Given the description of an element on the screen output the (x, y) to click on. 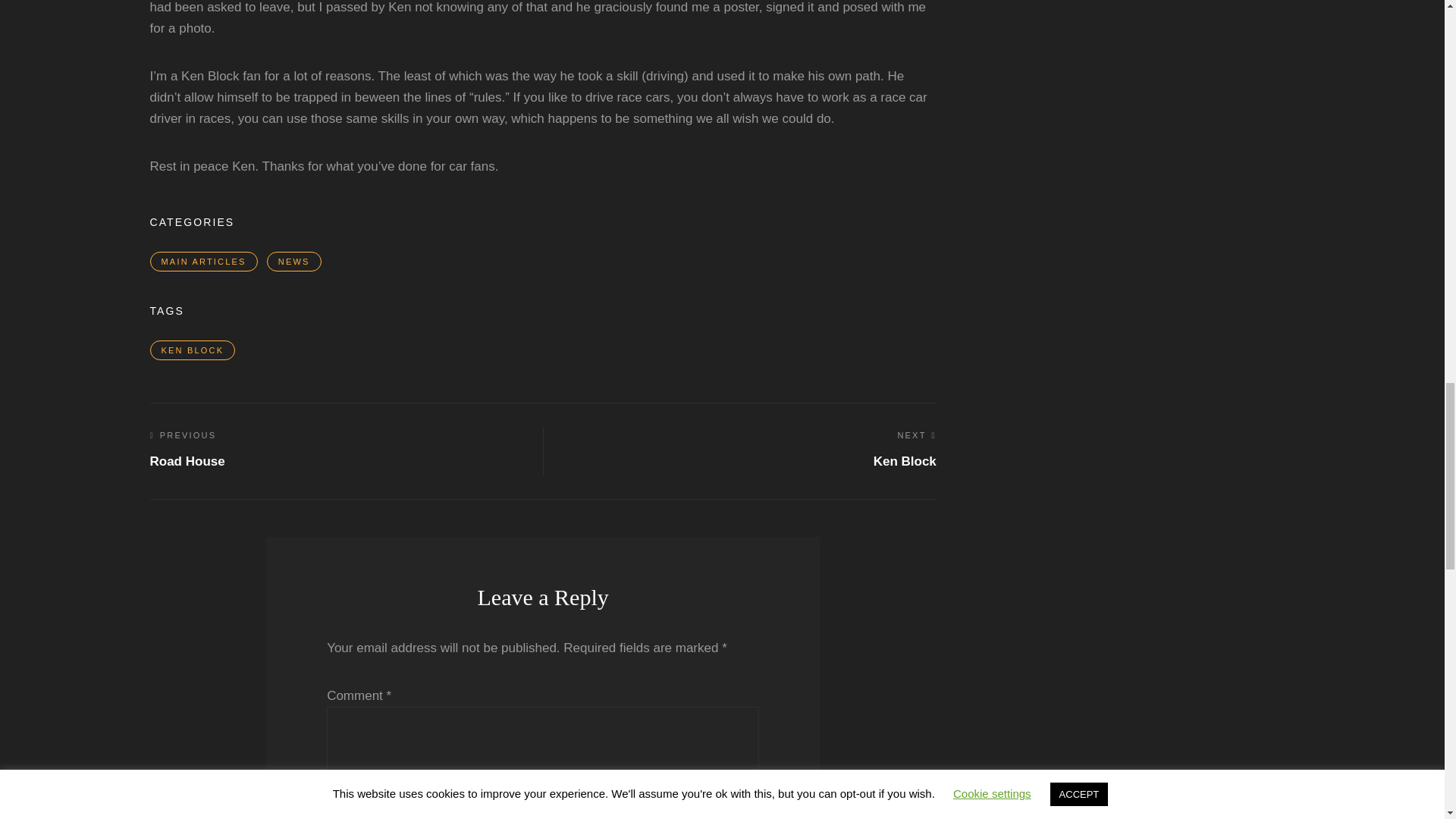
KEN BLOCK (192, 350)
MAIN ARTICLES (203, 261)
NEWS (293, 261)
